Given the description of an element on the screen output the (x, y) to click on. 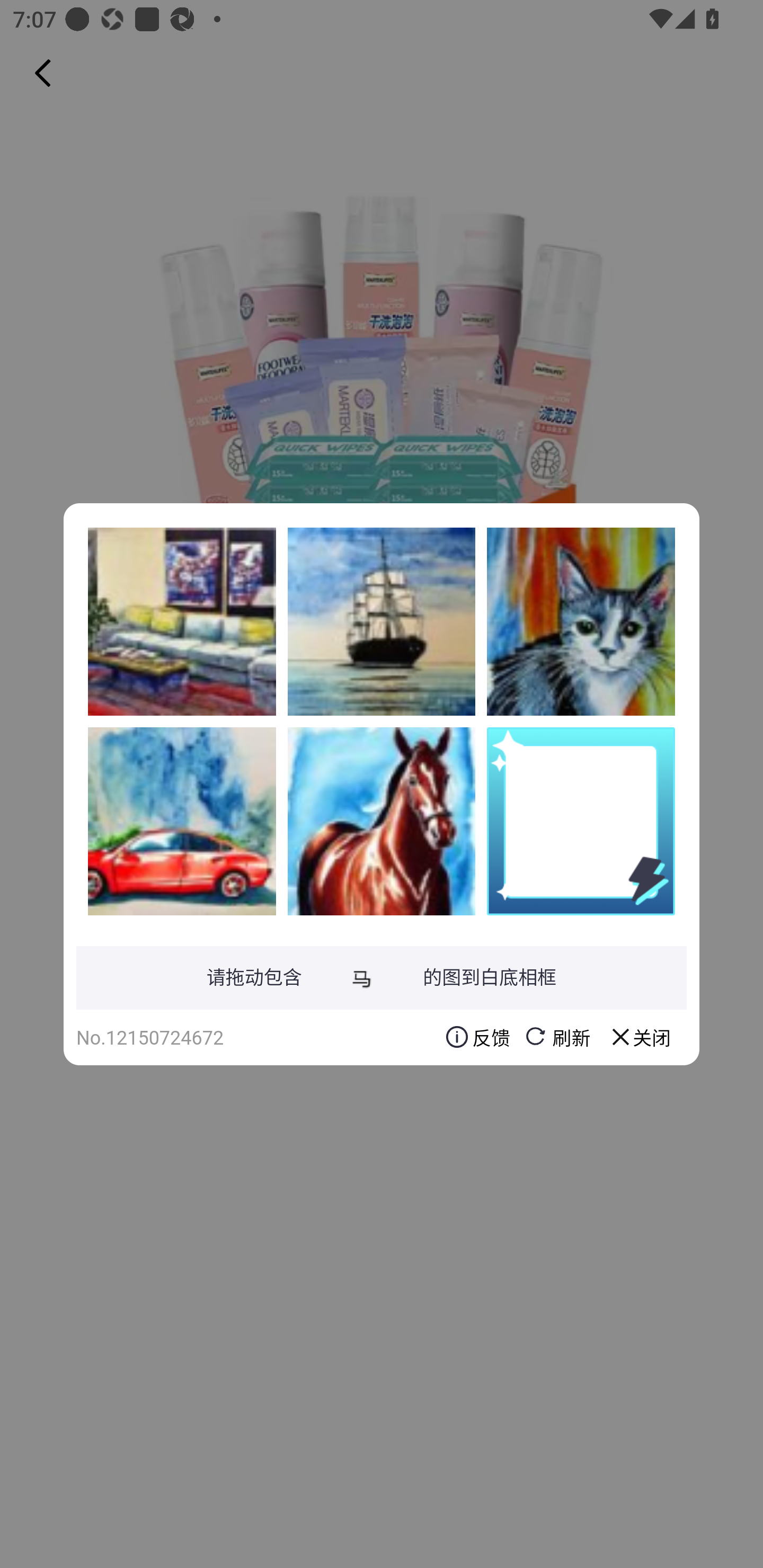
uMCwwhQUChuQGlKYSePMXeuJ3lqBWDOjPs (181, 621)
I7c2beLNrBx4blvN+wzyCb+ (381, 820)
